Given the description of an element on the screen output the (x, y) to click on. 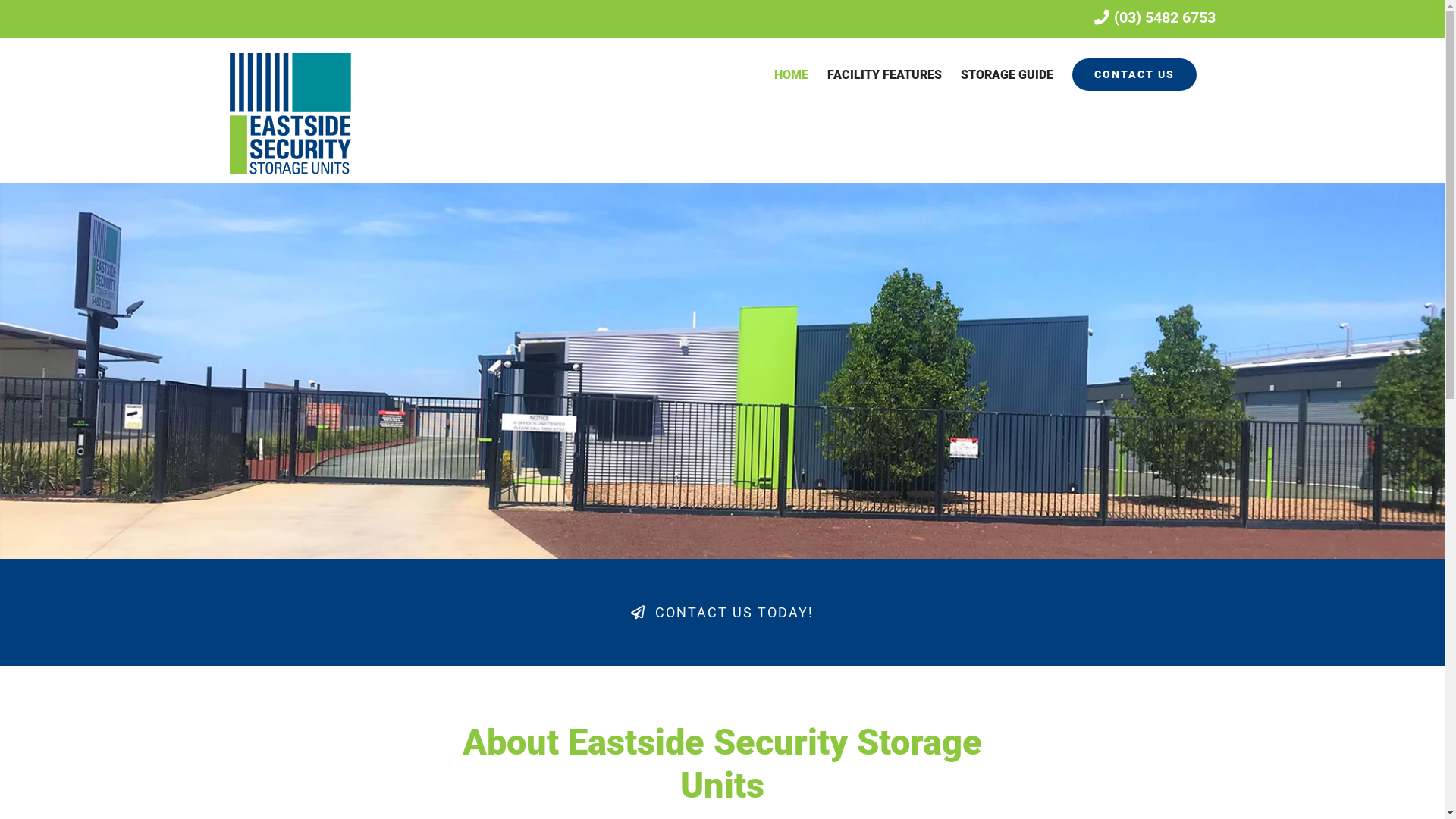
CONTACT US TODAY! Element type: text (722, 611)
(03) 5482 6753 Element type: text (1153, 17)
CONTACT US Element type: text (1134, 74)
HOME Element type: text (790, 74)
FACILITY FEATURES Element type: text (883, 74)
STORAGE GUIDE Element type: text (1006, 74)
